Given the description of an element on the screen output the (x, y) to click on. 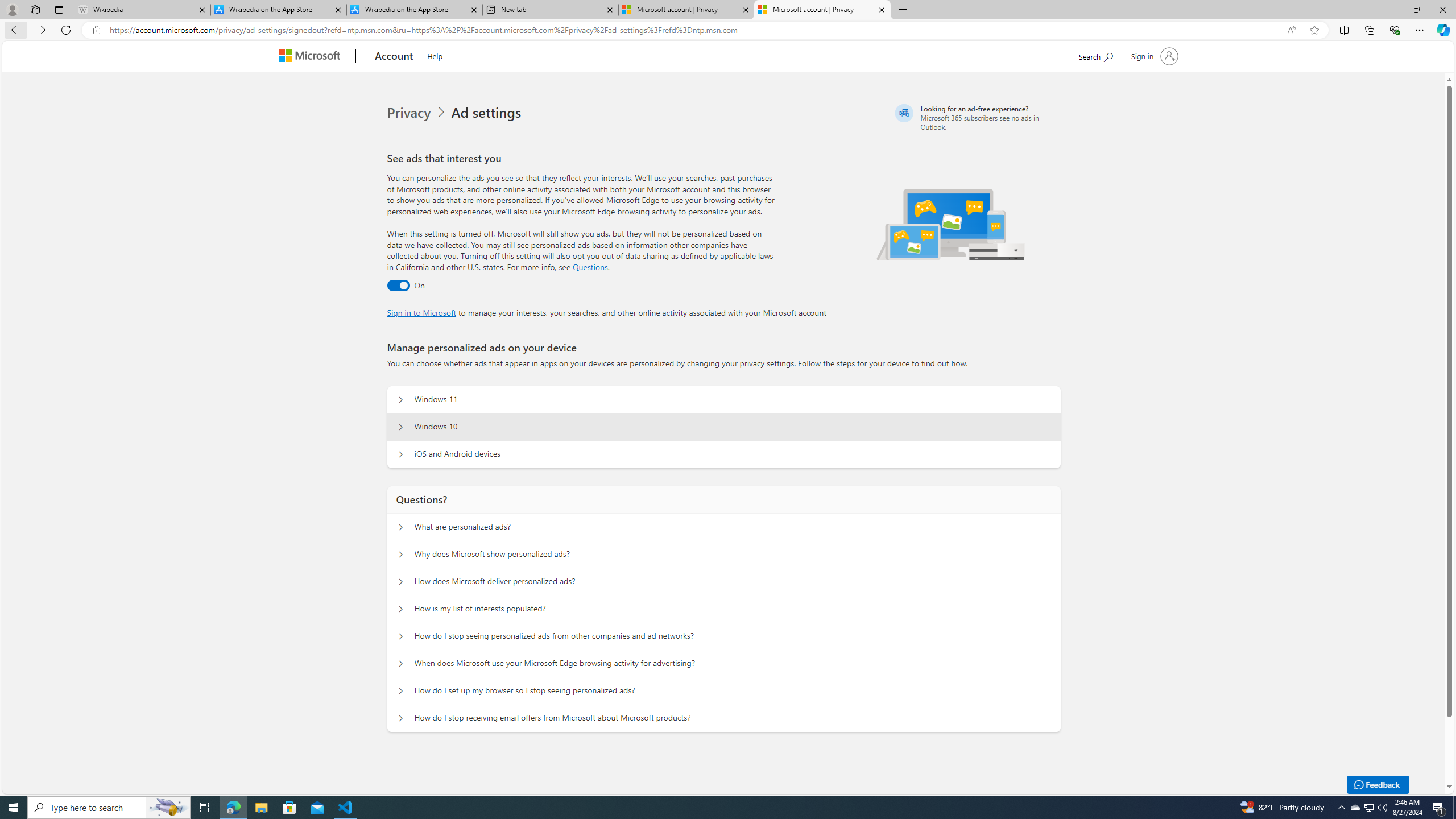
Manage personalized ads on your device Windows 10 (401, 427)
Questions? How is my list of interests populated? (401, 608)
Looking for an ad-free experience? (976, 117)
Questions? What are personalized ads? (401, 526)
